Given the description of an element on the screen output the (x, y) to click on. 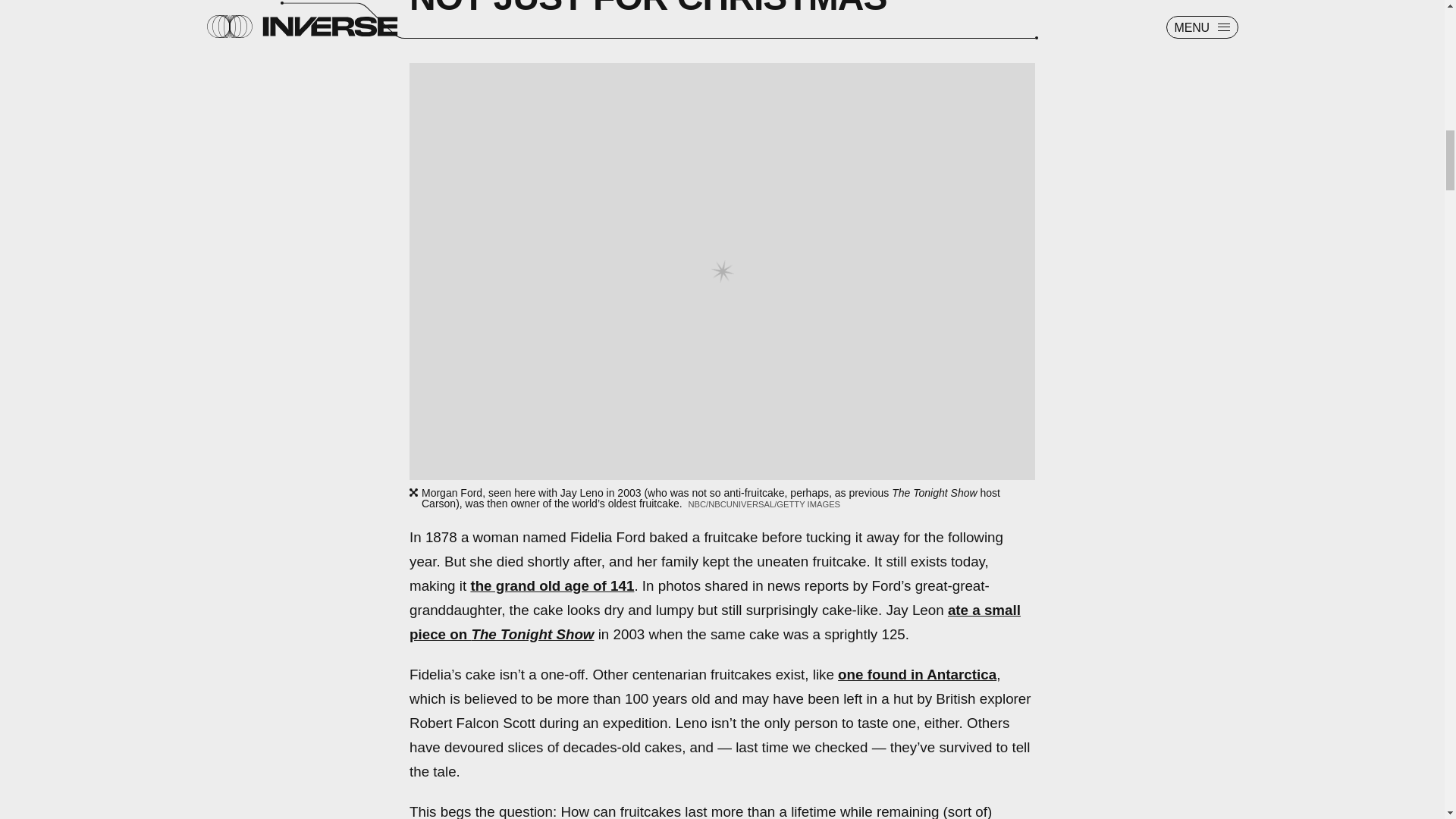
one found in Antarctica (916, 674)
the grand old age of 141 (551, 585)
ate a small piece on The Tonight Show (714, 621)
